Given the description of an element on the screen output the (x, y) to click on. 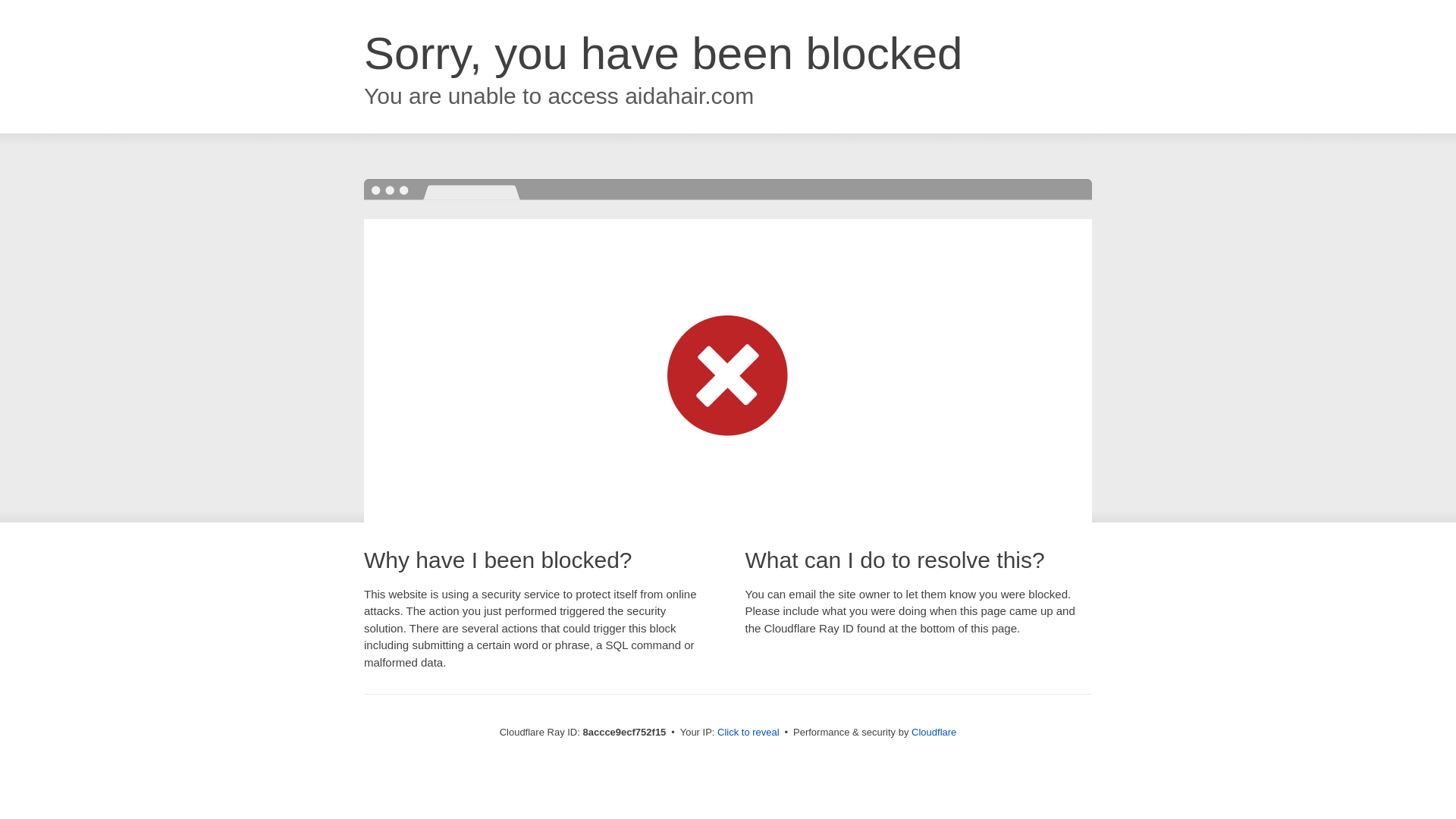
Click to reveal (747, 732)
Cloudflare (933, 731)
